Given the description of an element on the screen output the (x, y) to click on. 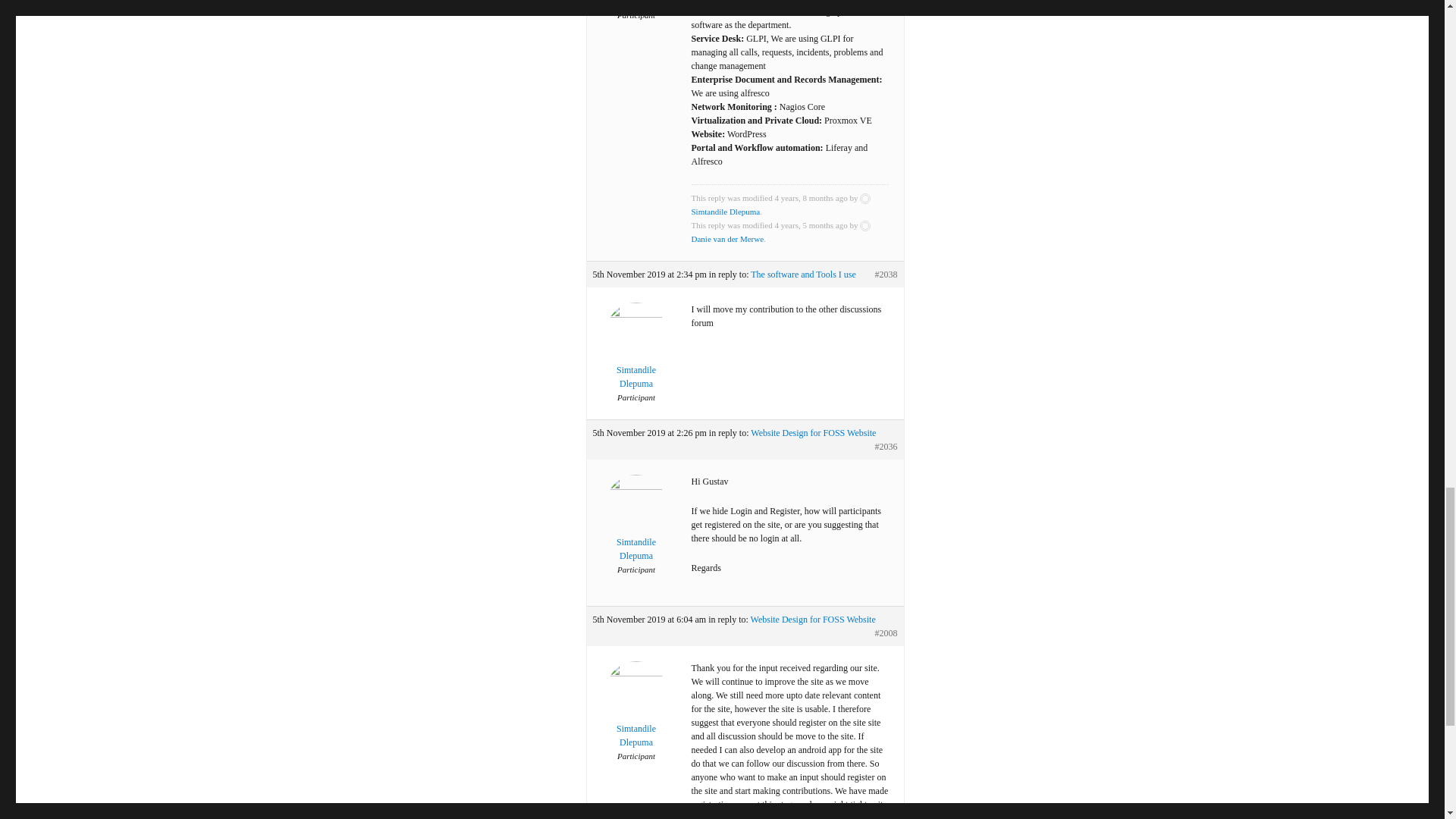
View Simtandile Dlepuma's profile (635, 4)
View Simtandile Dlepuma's profile (783, 204)
View Simtandile Dlepuma's profile (635, 714)
View Simtandile Dlepuma's profile (635, 528)
View Simtandile Dlepuma's profile (635, 356)
View Danie van der Merwe's profile (783, 231)
